Given the description of an element on the screen output the (x, y) to click on. 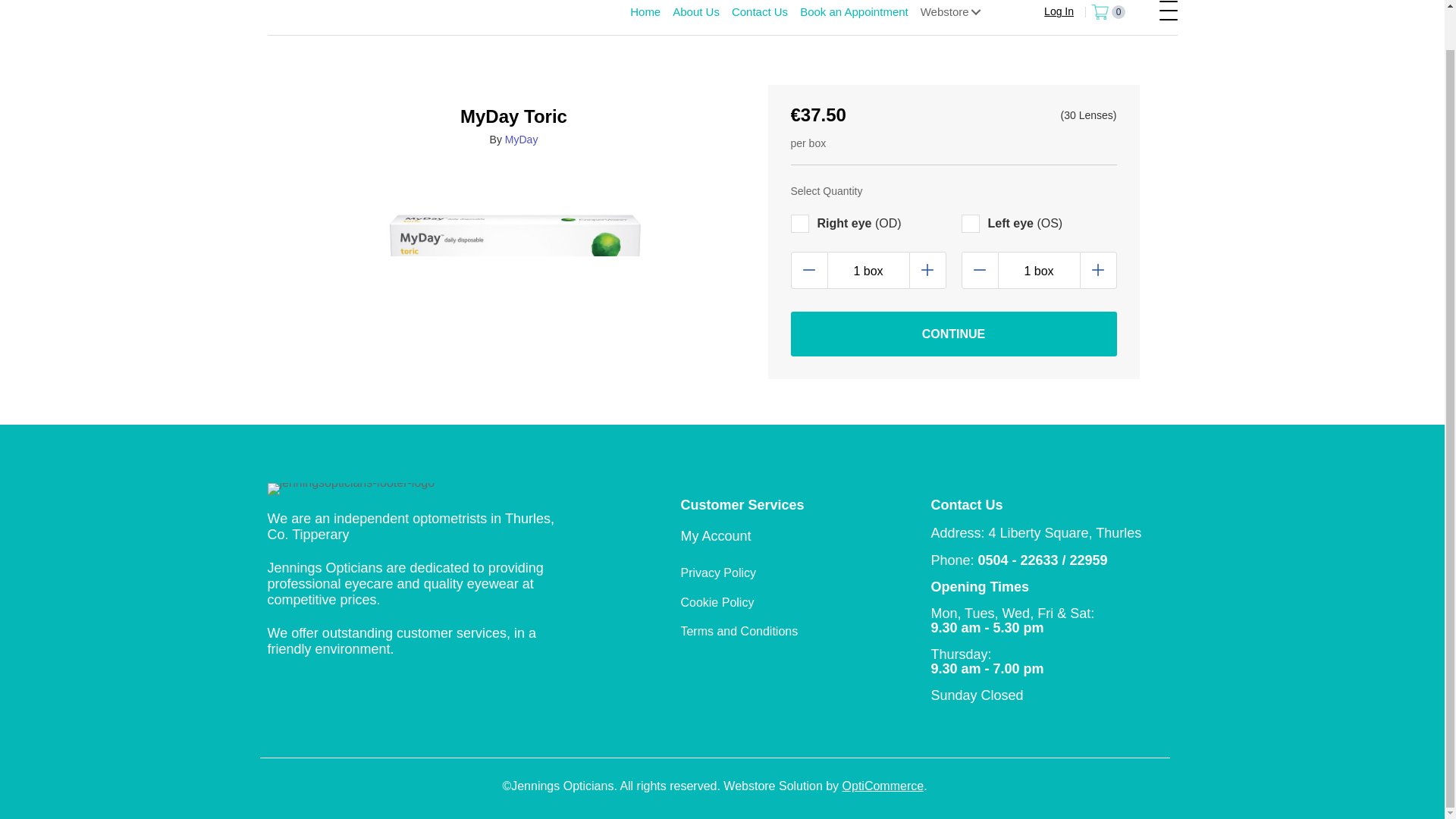
Contact Us (759, 13)
0 (1107, 11)
Webstore (952, 13)
- (808, 270)
Book an Appointment (853, 13)
Home (645, 13)
Log In (1049, 11)
- (979, 270)
View your shopping cart (1107, 11)
CONTINUE (953, 334)
About Us (695, 13)
